Given the description of an element on the screen output the (x, y) to click on. 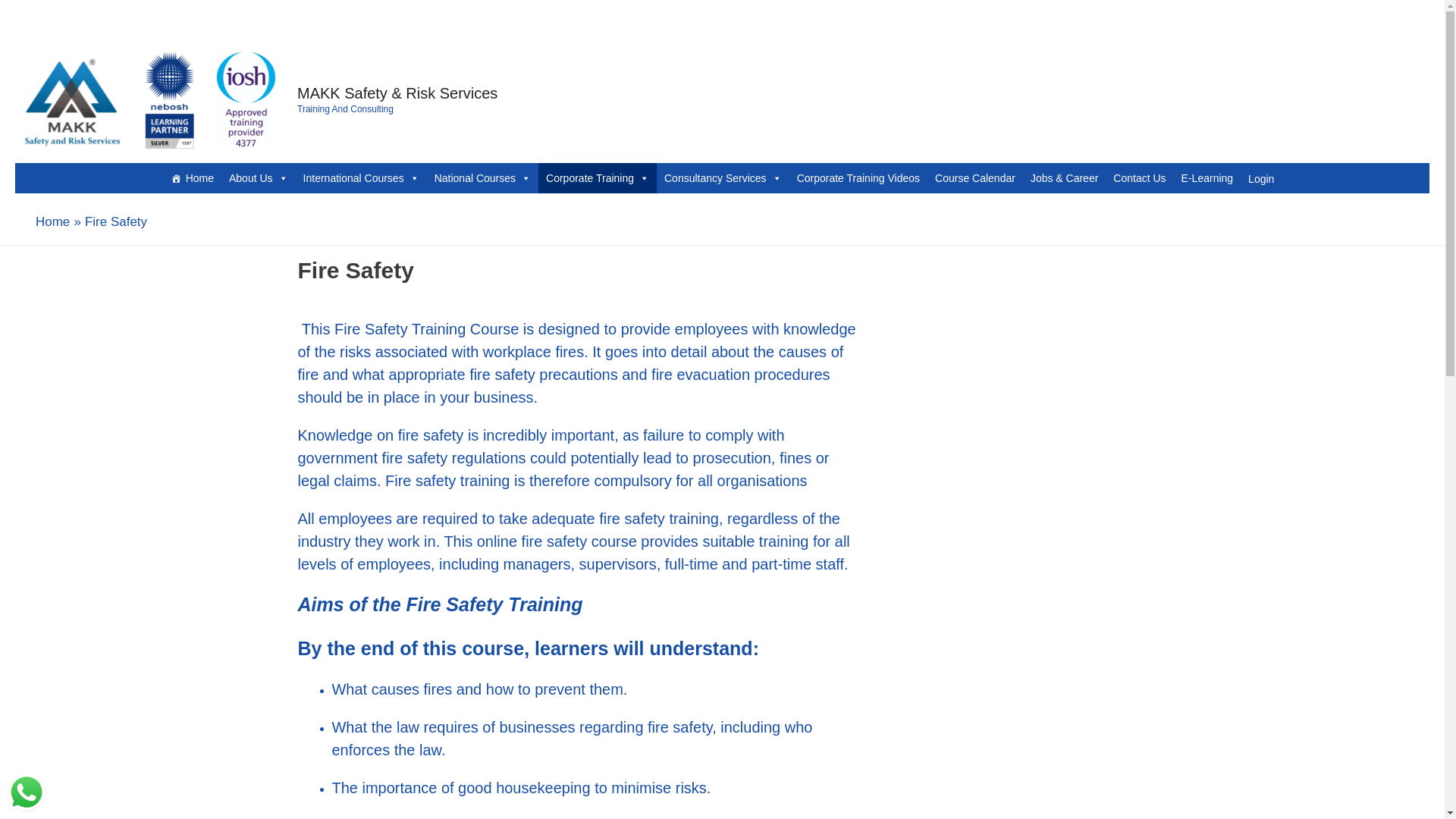
WhatsApp us (26, 792)
Home (192, 177)
International Courses (360, 177)
About Us (258, 177)
